Given the description of an element on the screen output the (x, y) to click on. 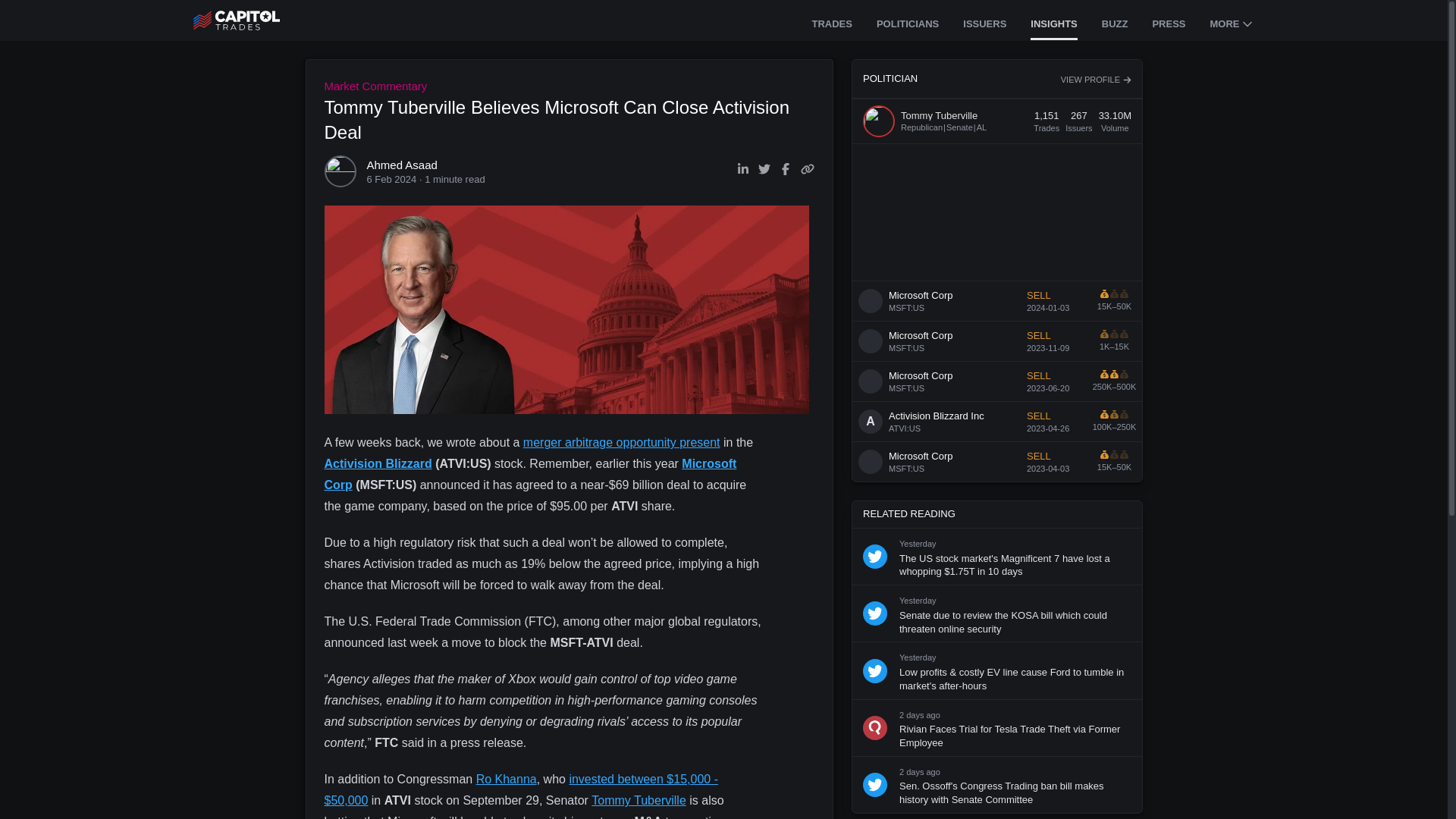
POLITICIANS (907, 25)
2024-01-03 00:00:00 (1047, 307)
2023-04-03 00:00:00 (1047, 468)
2024-07-25 11:59:43 (919, 714)
2024-07-26 11:41:47 (917, 601)
ISSUERS (984, 25)
Tommy Tuberville (638, 799)
merger arbitrage opportunity present (621, 441)
TRADES (830, 25)
Ro Khanna (506, 779)
2023-04-26 00:00:00 (1047, 428)
VIEW PROFILE (1095, 79)
INSIGHTS (1053, 25)
